Given the description of an element on the screen output the (x, y) to click on. 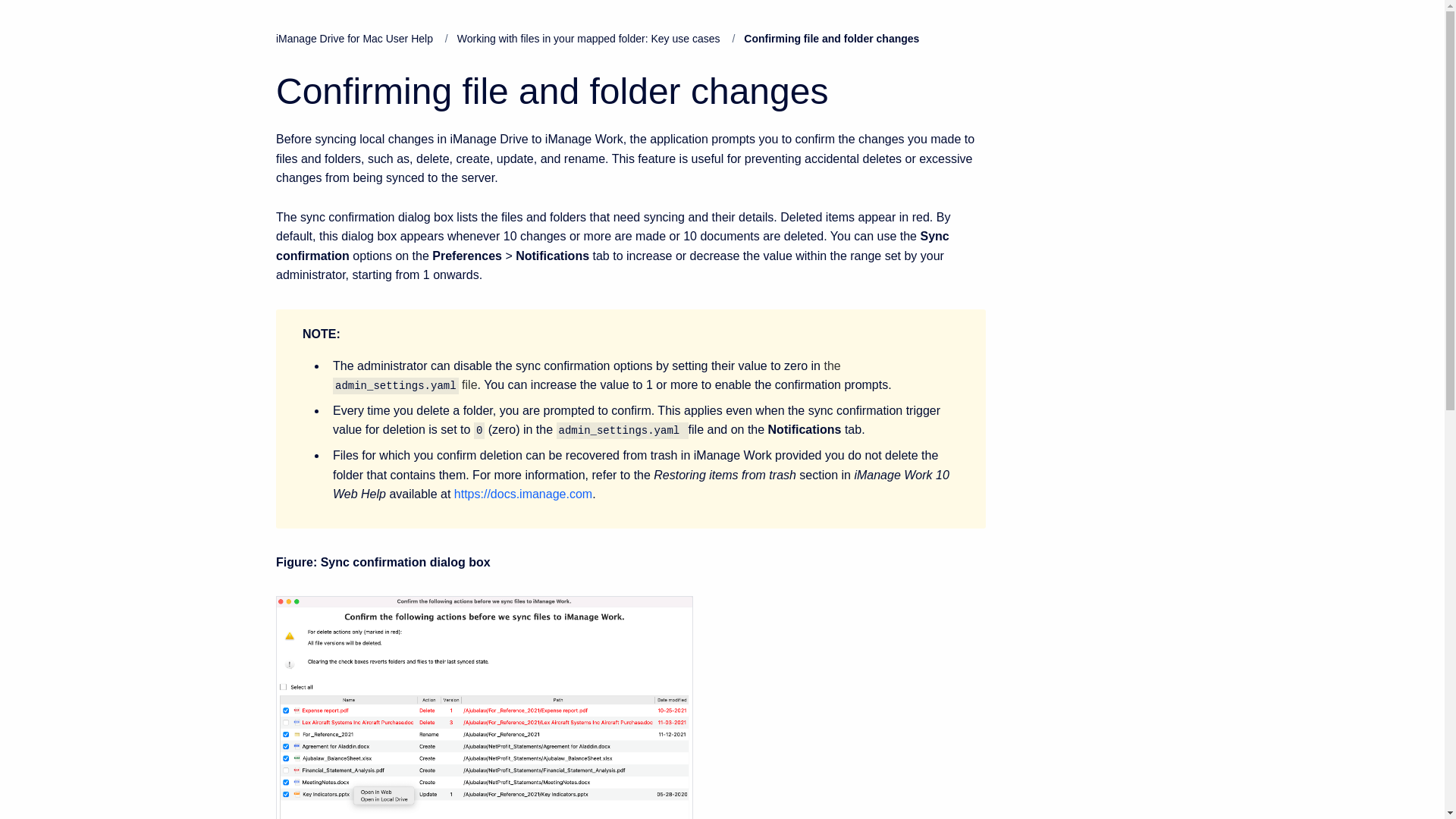
Working with files in your mapped folder: Key use cases (588, 38)
Confirming file and folder changes (831, 38)
iManage Drive for Mac User Help (354, 38)
Confirming file and folder changes (630, 91)
